Given the description of an element on the screen output the (x, y) to click on. 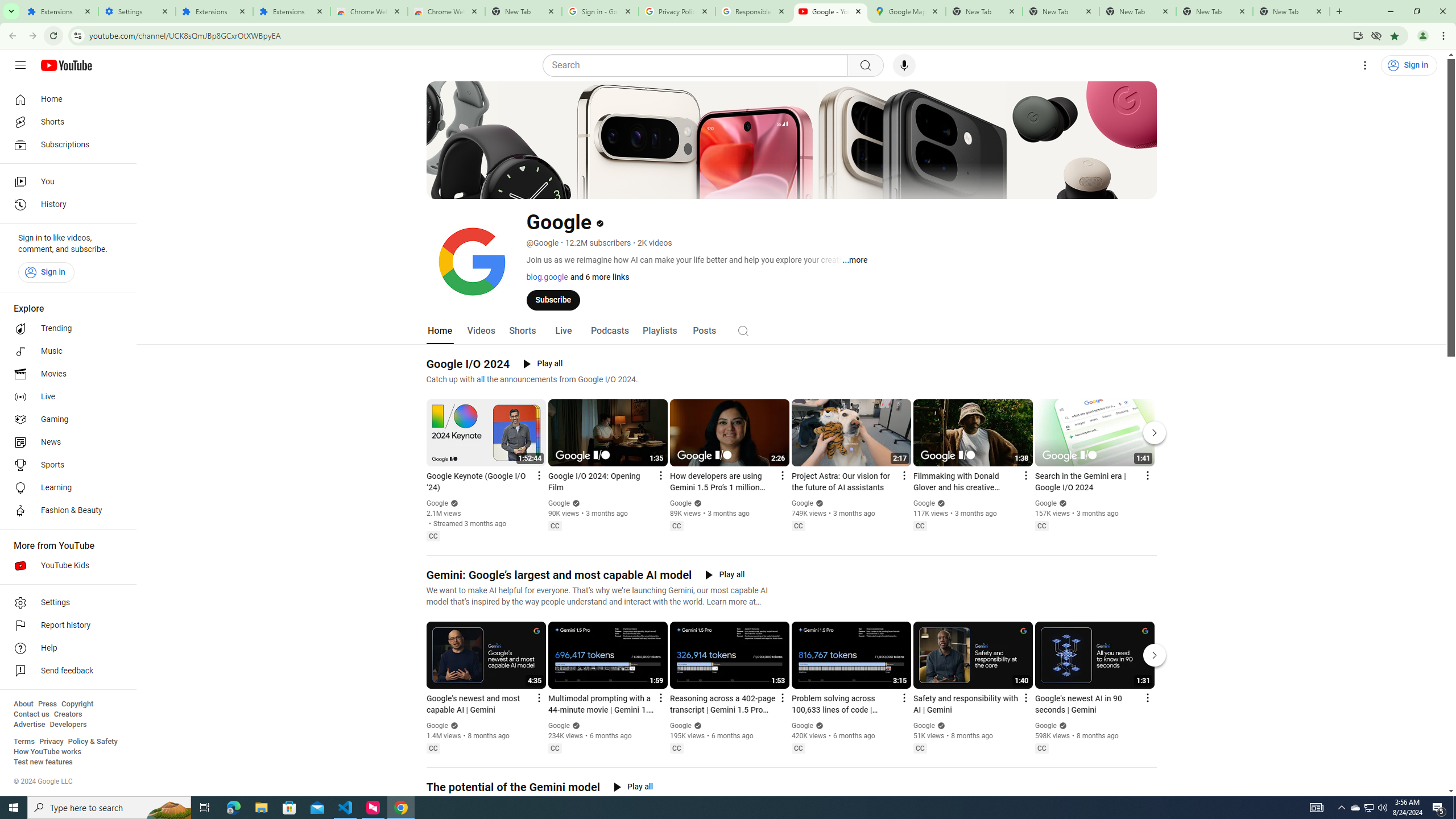
Policy & Safety (91, 741)
Settings (136, 11)
Extensions (59, 11)
Google Maps (906, 11)
Play all (633, 787)
The potential of the Gemini model (512, 786)
Test new features (42, 761)
Subscribe (552, 299)
